Given the description of an element on the screen output the (x, y) to click on. 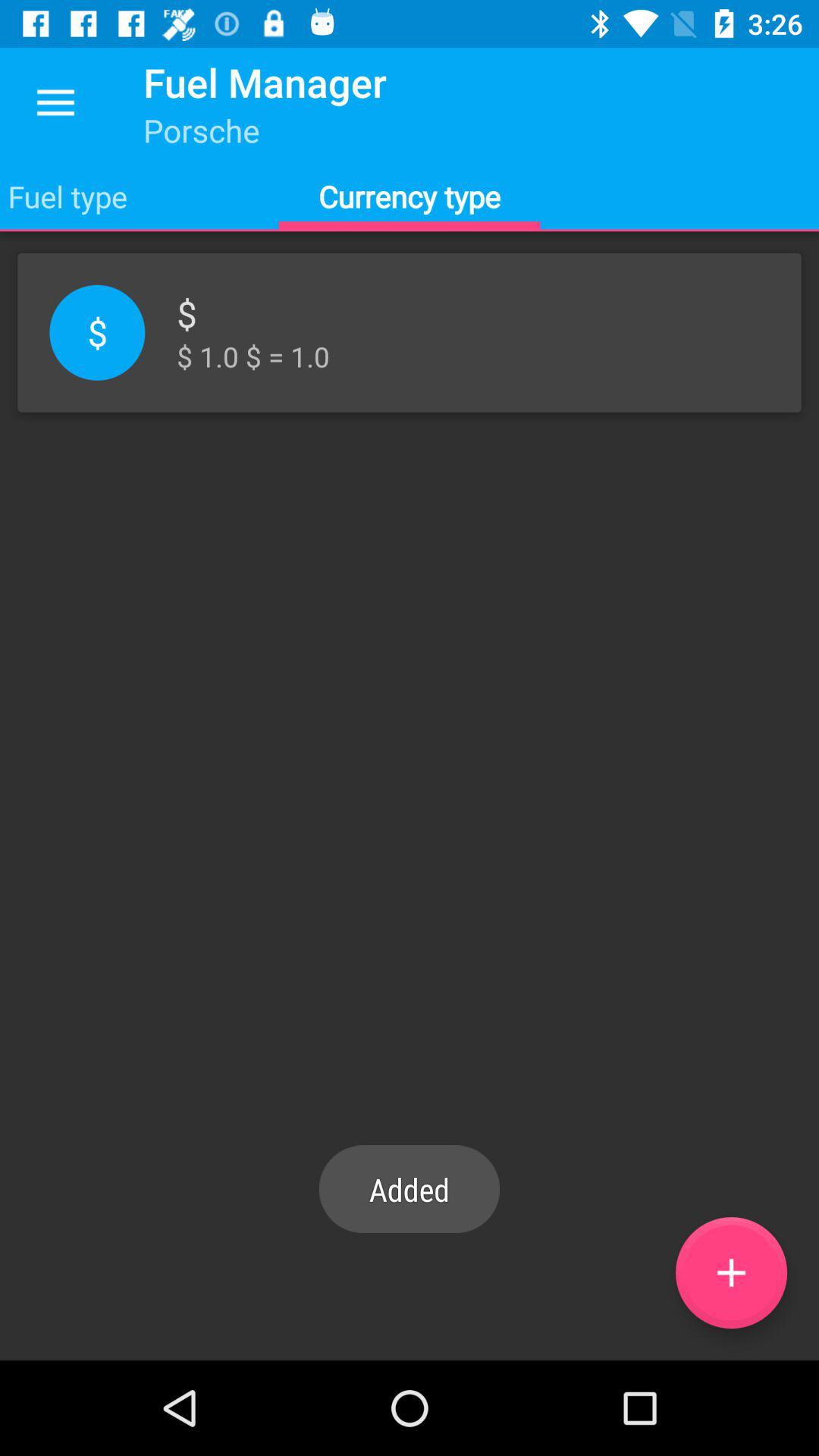
click the icon below 1 0 1 icon (731, 1272)
